Given the description of an element on the screen output the (x, y) to click on. 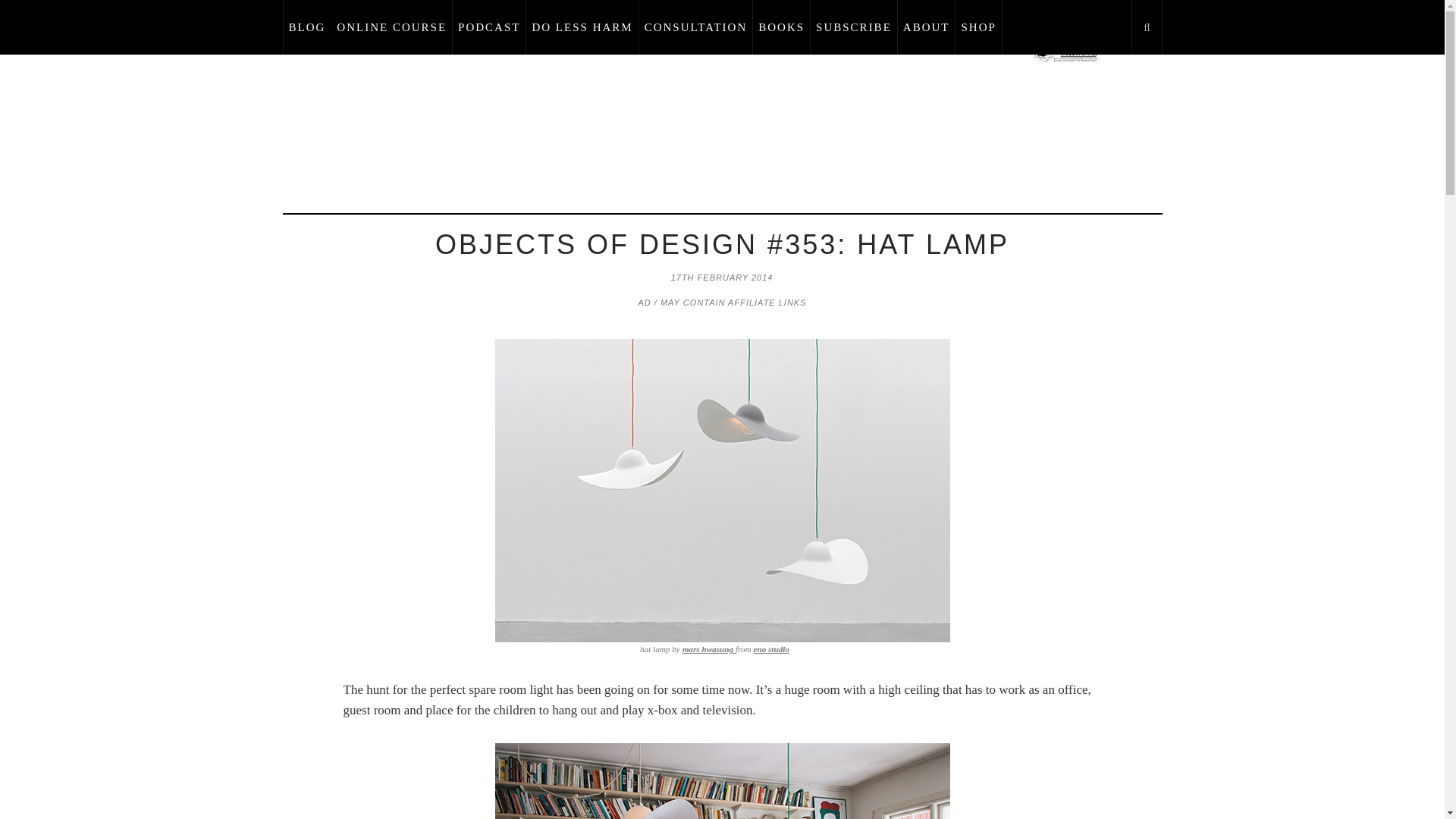
SUBSCRIBE (854, 27)
PODCAST (488, 27)
CONSULTATION (696, 27)
Mad About The House (1066, 48)
ABOUT (927, 27)
DO LESS HARM (582, 27)
eno studio (770, 648)
hat lamp (722, 780)
ONLINE COURSE (391, 27)
mars hwasung (708, 648)
BOOKS (781, 27)
BLOG (306, 27)
